Given the description of an element on the screen output the (x, y) to click on. 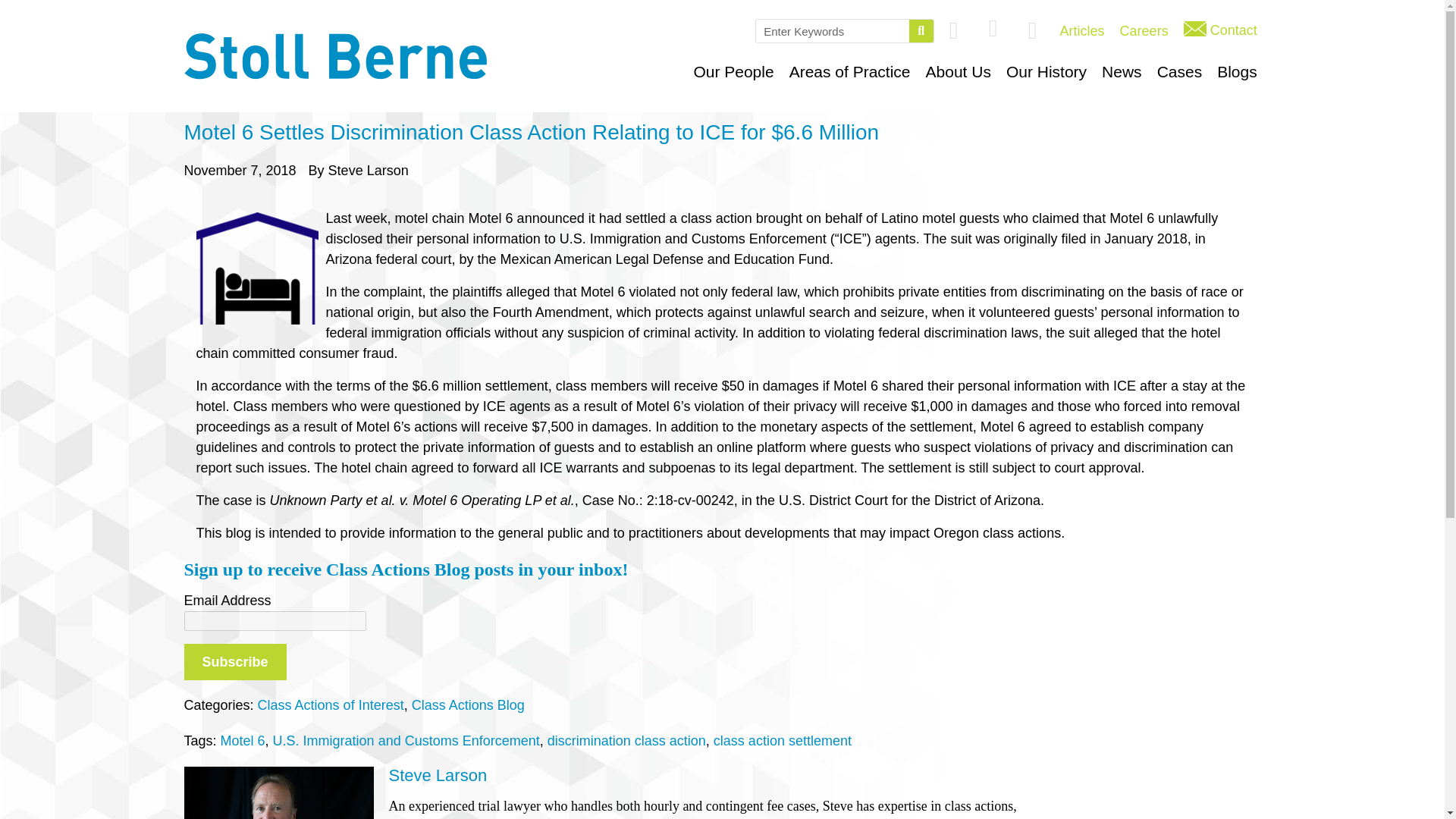
Contact (1220, 30)
Careers (1144, 31)
Articles (1082, 31)
Our People (732, 71)
Areas of Practice (849, 71)
Subscribe (234, 661)
